Given the description of an element on the screen output the (x, y) to click on. 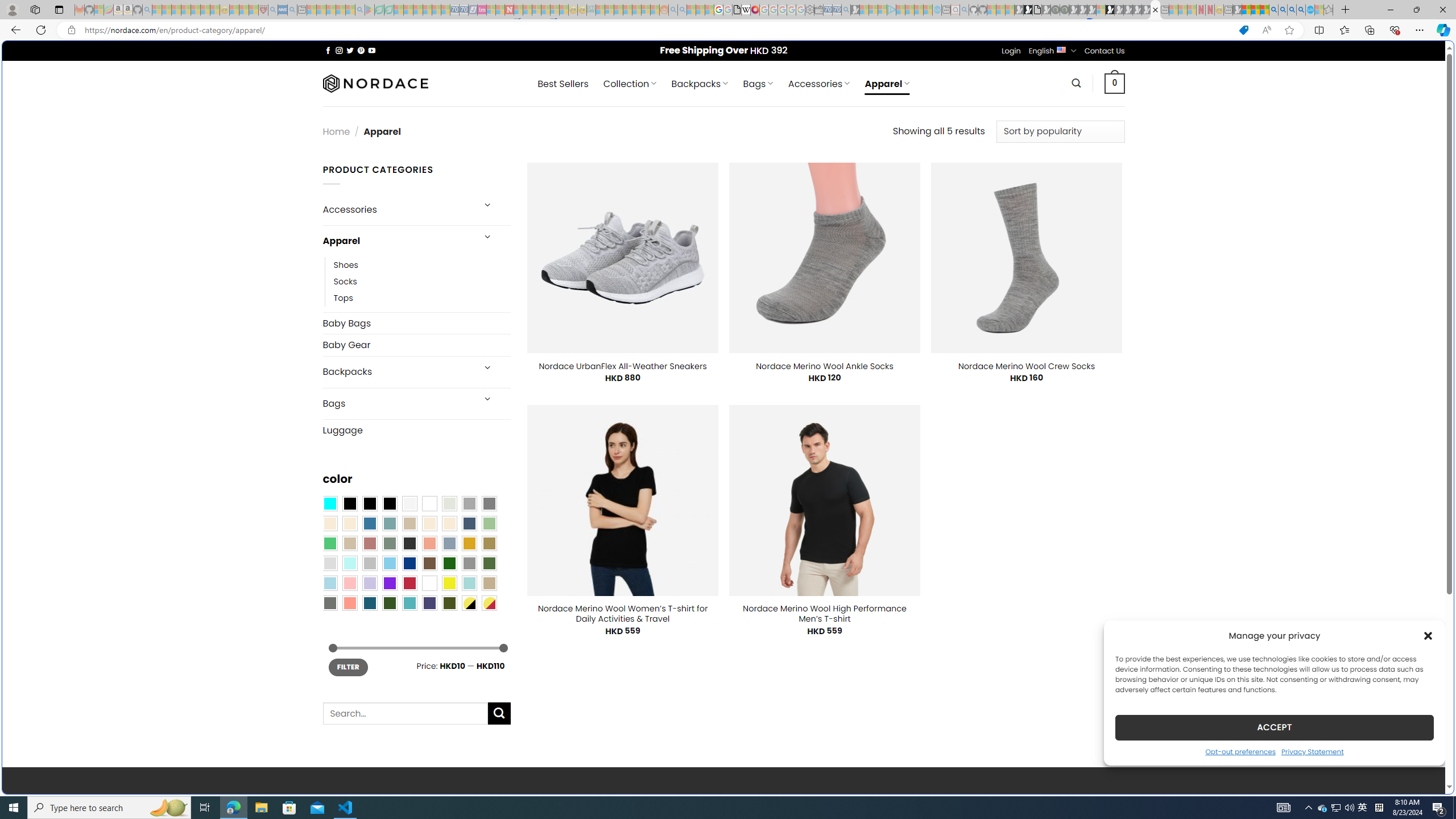
Mint (349, 562)
Privacy Statement (1312, 750)
